Given the description of an element on the screen output the (x, y) to click on. 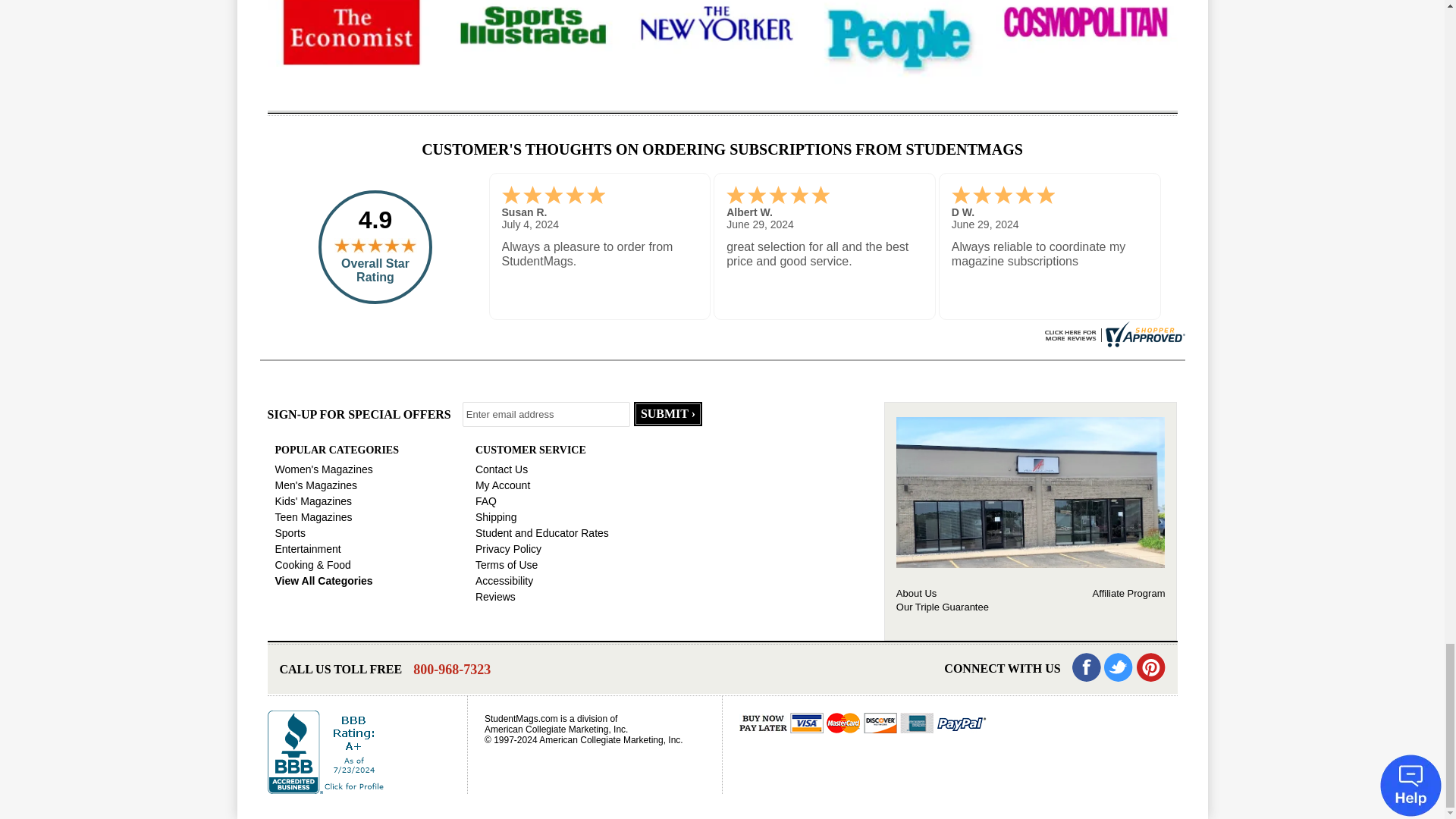
People Magazine (897, 37)
Sport Illustrated Magazine (533, 23)
Enter email address (546, 414)
New Yorker Magazine (715, 21)
The Economist Magazine (351, 28)
Cosmopolitan Magazine (1085, 21)
Reviews (1113, 332)
